Given the description of an element on the screen output the (x, y) to click on. 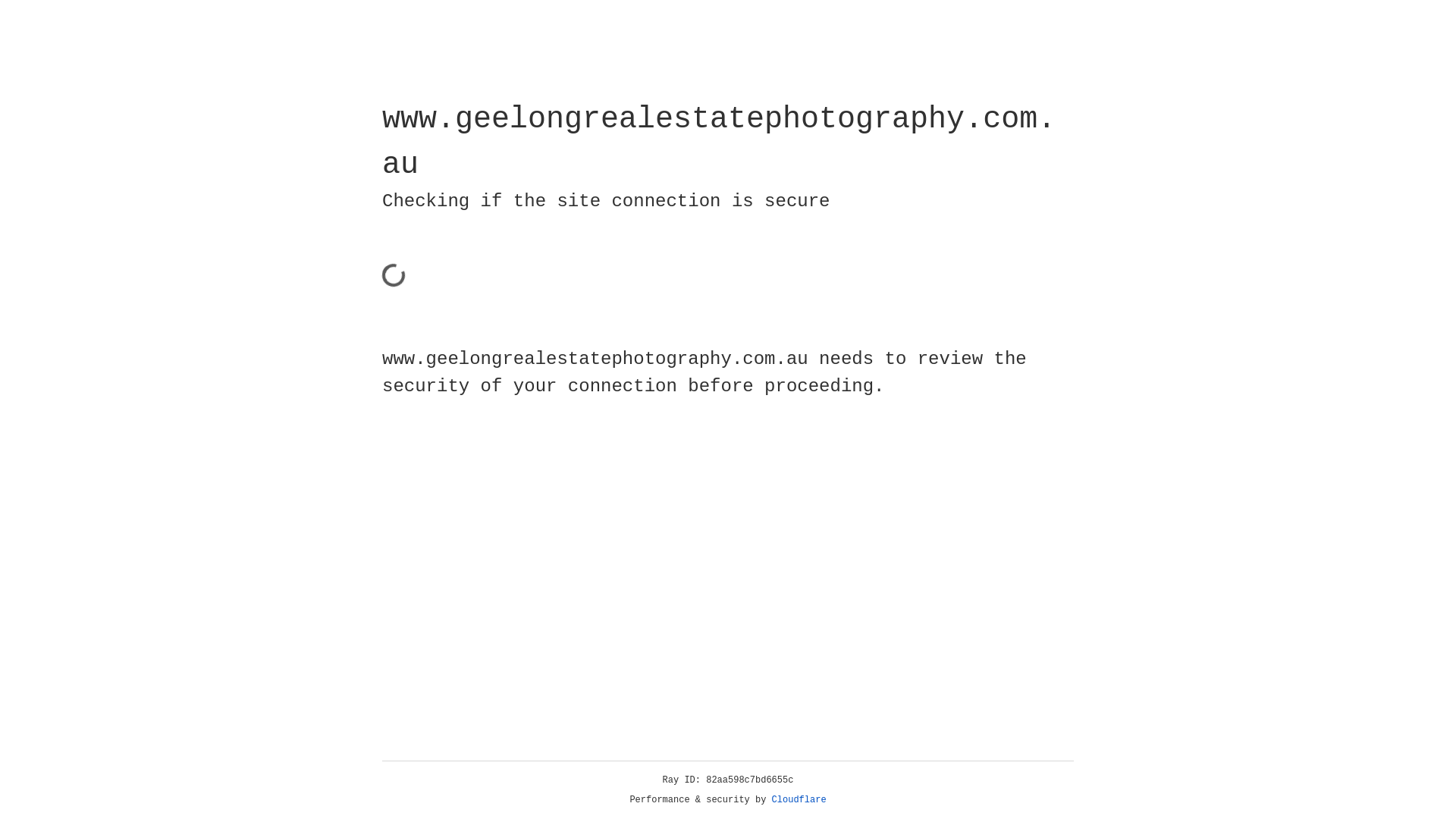
Cloudflare Element type: text (798, 799)
